Given the description of an element on the screen output the (x, y) to click on. 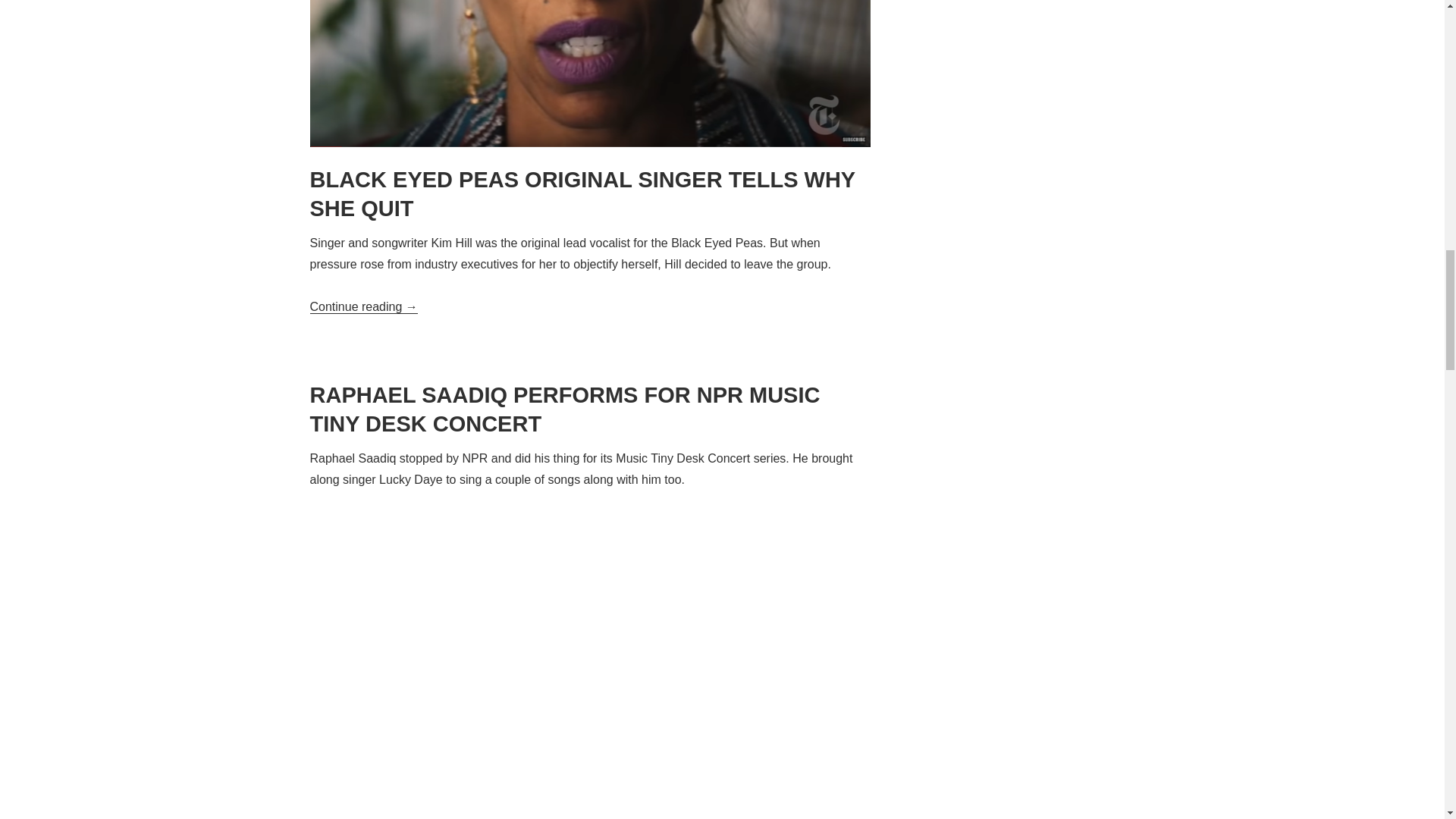
RAPHAEL SAADIQ PERFORMS FOR NPR MUSIC TINY DESK CONCERT (589, 409)
BLACK EYED PEAS ORIGINAL SINGER TELLS WHY SHE QUIT (589, 194)
